Given the description of an element on the screen output the (x, y) to click on. 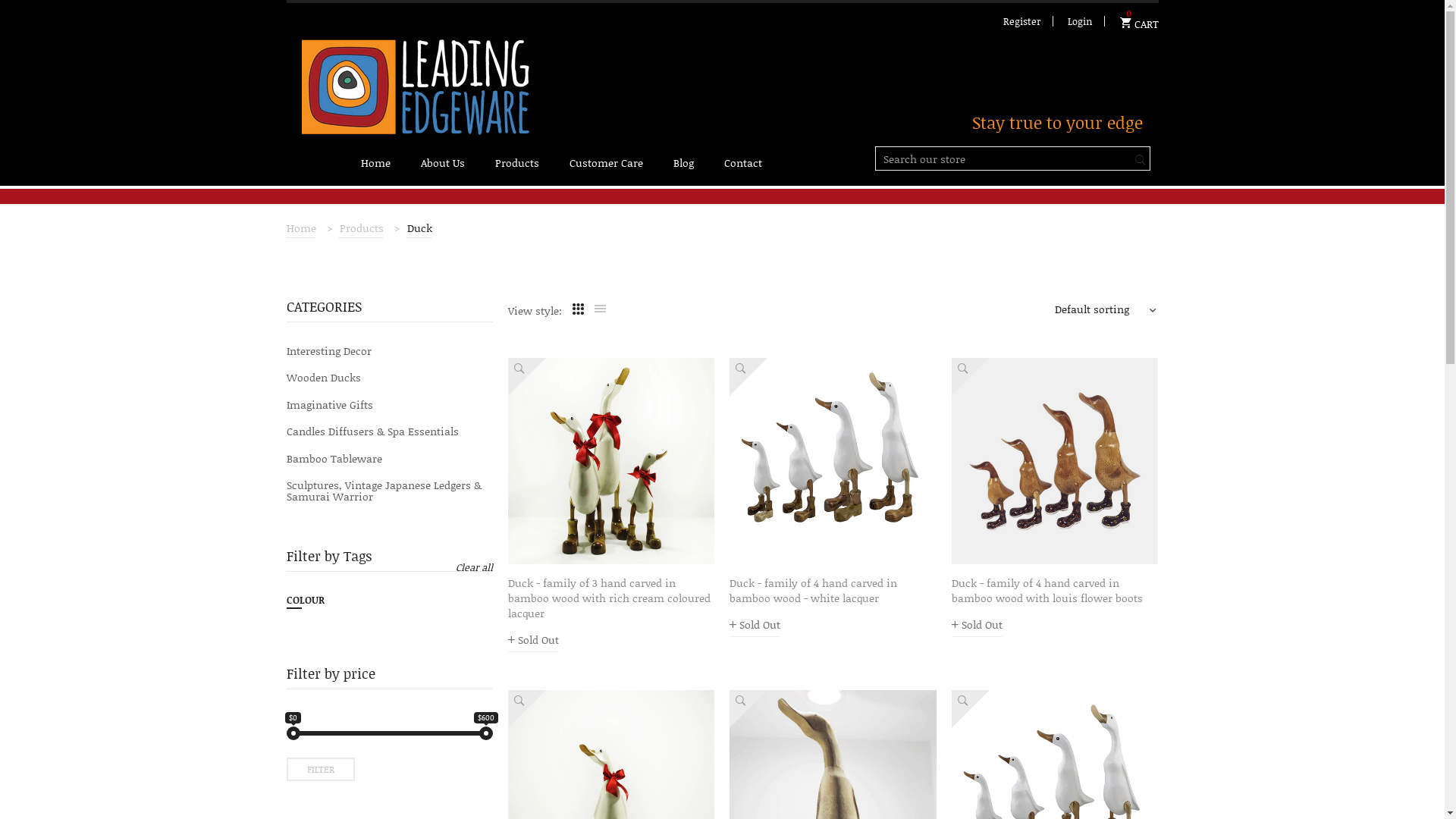
Candles Diffusers & Spa Essentials Element type: text (389, 430)
Products Element type: text (517, 162)
Contact Element type: text (743, 162)
Quickview Element type: hover (748, 376)
Sold Out Element type: text (754, 625)
Products Element type: text (361, 227)
Blog Element type: text (683, 162)
Quickview Element type: hover (527, 376)
Home Element type: text (301, 227)
Sculptures, Vintage Japanese Ledgers & Samurai Warrior Element type: text (389, 490)
Customer Care Element type: text (606, 162)
Sold Out Element type: text (533, 640)
Login Element type: text (1080, 20)
Imaginative Gifts Element type: text (389, 404)
CART
0 Element type: text (1138, 21)
Quickview Element type: hover (748, 709)
List Element type: hover (599, 308)
Interesting Decor Element type: text (389, 350)
Bamboo Tableware Element type: text (389, 458)
Quickview Element type: hover (970, 376)
Wooden Ducks Element type: text (389, 377)
Clear all Element type: text (473, 566)
Grid Element type: hover (577, 308)
About Us Element type: text (442, 162)
FILTER Element type: text (320, 769)
Register Element type: text (1021, 20)
Quickview Element type: hover (527, 709)
Sold Out Element type: text (976, 625)
Home Element type: text (375, 162)
Quickview Element type: hover (970, 709)
